Given the description of an element on the screen output the (x, y) to click on. 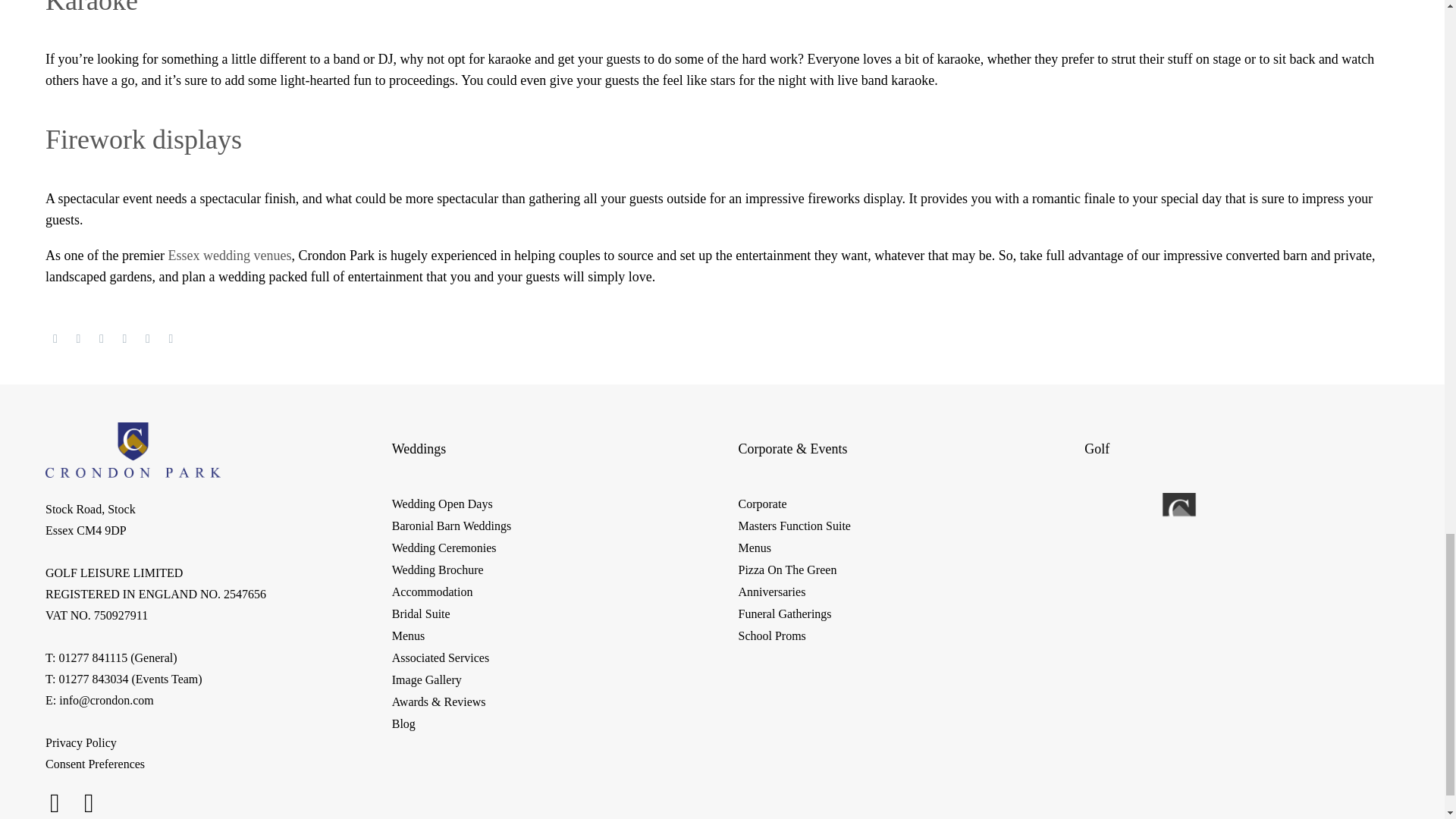
Twitter (78, 338)
Pinterest (101, 338)
Essex wedding venues (229, 255)
Tumblr (124, 338)
Reddit (171, 338)
Facebook (55, 338)
LinkedIn (147, 338)
